Given the description of an element on the screen output the (x, y) to click on. 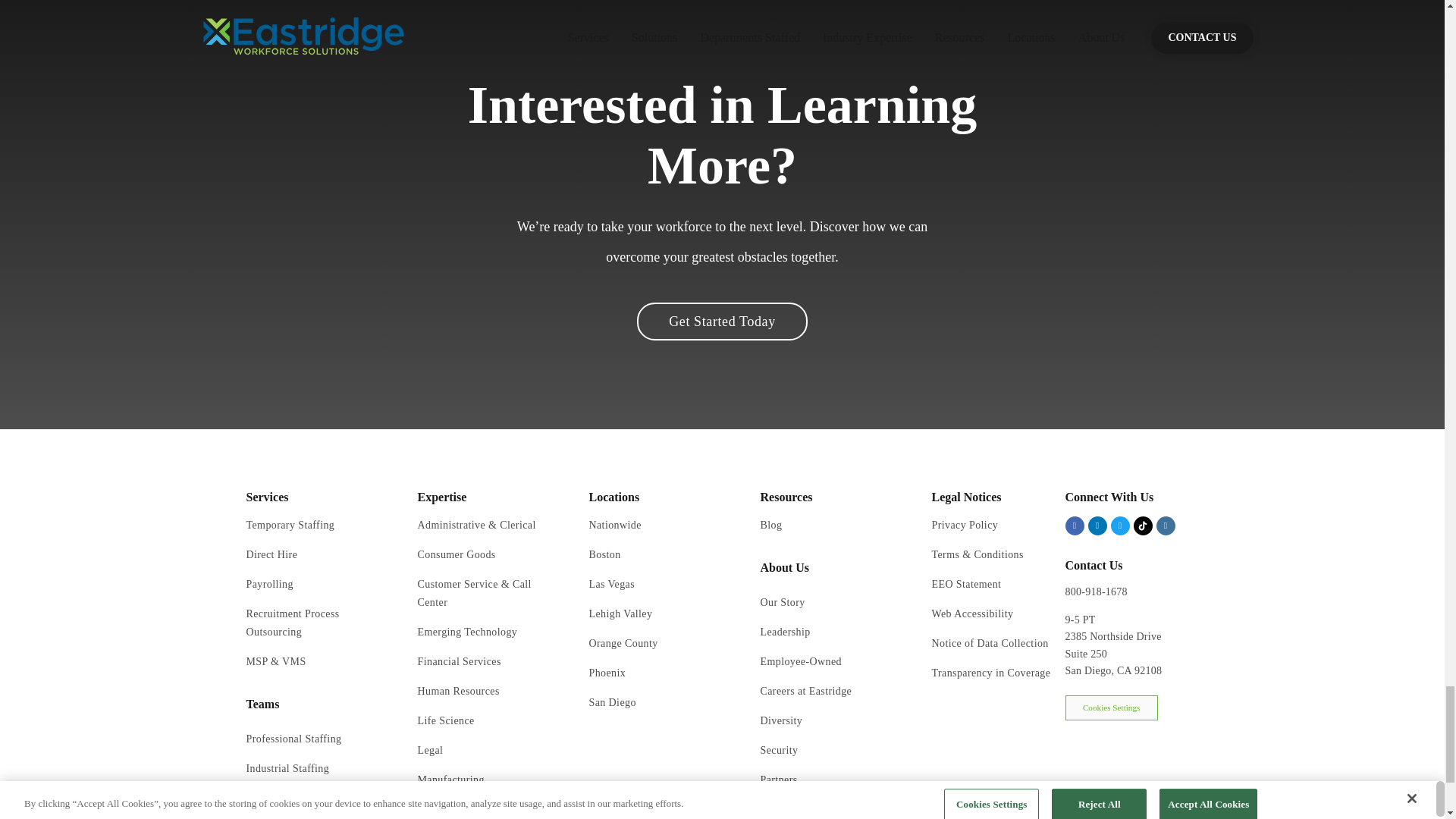
Get Started Today (722, 321)
